Given the description of an element on the screen output the (x, y) to click on. 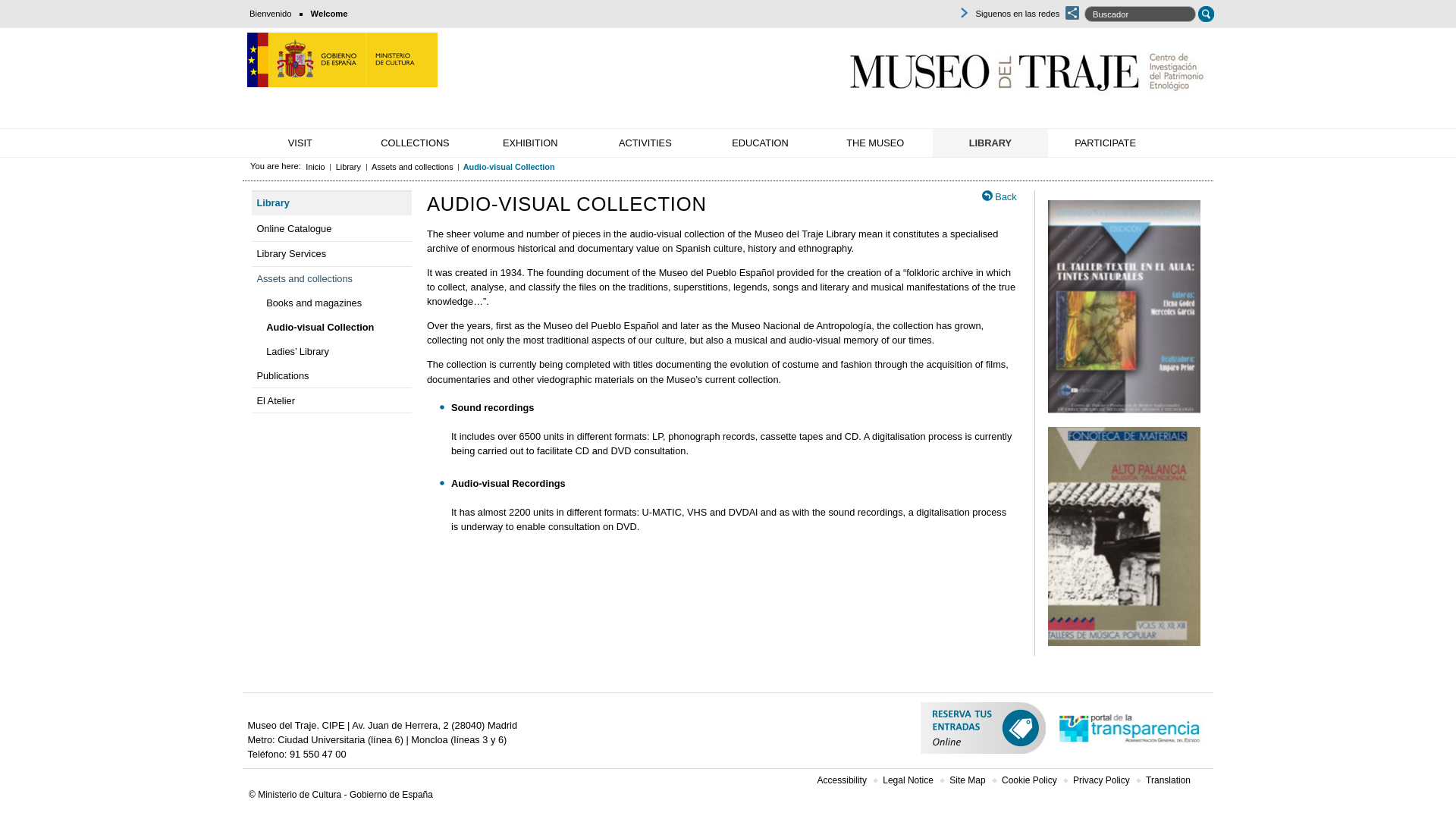
Siguenos en las redes (963, 12)
Enlace externo, se abre en ventana nueva. (1129, 730)
Enlace externo, se abre en ventana nueva. (342, 61)
Buscador (1140, 13)
Ministerio de Cultura (342, 59)
Siguenos en las redes (1007, 11)
Enlace externo, se abre en ventana nueva. (983, 730)
